Given the description of an element on the screen output the (x, y) to click on. 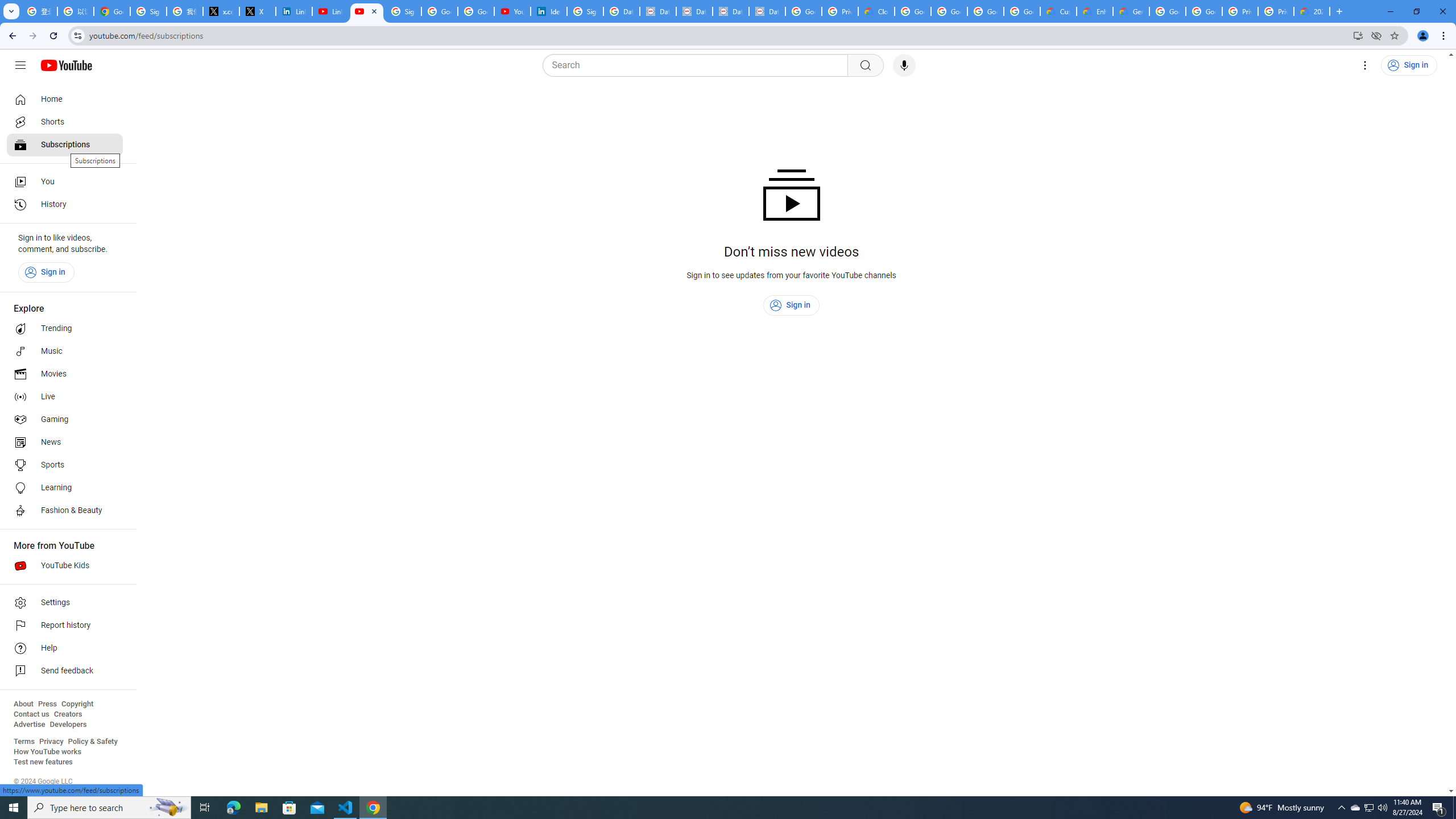
Subscriptions - YouTube (366, 11)
Data Privacy Framework (767, 11)
Data Privacy Framework (657, 11)
Sign in - Google Accounts (148, 11)
History (64, 204)
Gemini for Business and Developers | Google Cloud (1131, 11)
Press (46, 703)
Google Cloud Platform (1167, 11)
Contact us (31, 714)
Guide (20, 65)
